Given the description of an element on the screen output the (x, y) to click on. 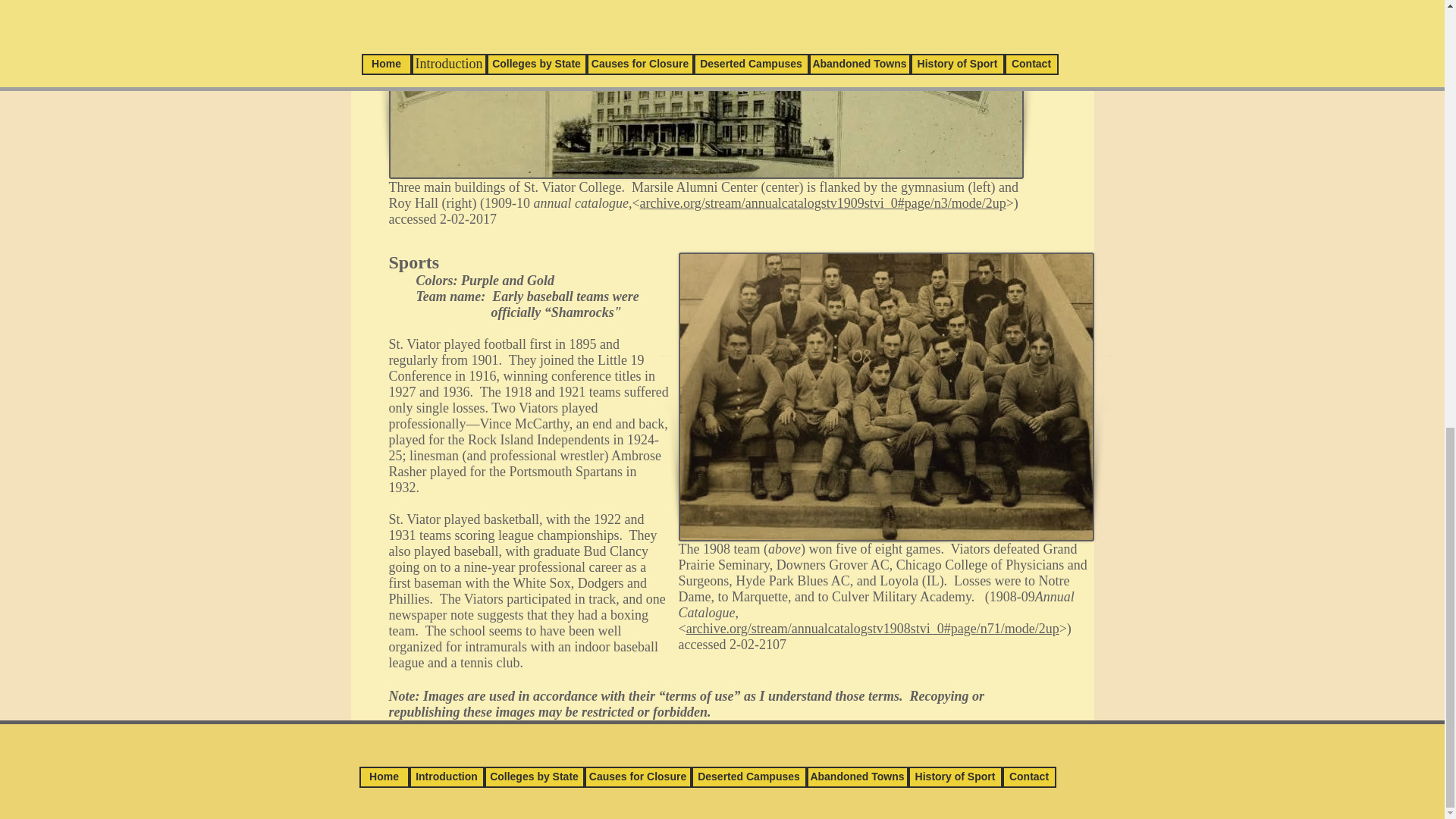
Causes for Closure (636, 776)
Abandoned Towns (857, 776)
Deserted Campuses (748, 776)
Colleges by State (533, 776)
St. Viator campus.jpg (705, 89)
Contact (1030, 776)
History of Sport (955, 776)
Home (384, 776)
Introduction (446, 776)
